Given the description of an element on the screen output the (x, y) to click on. 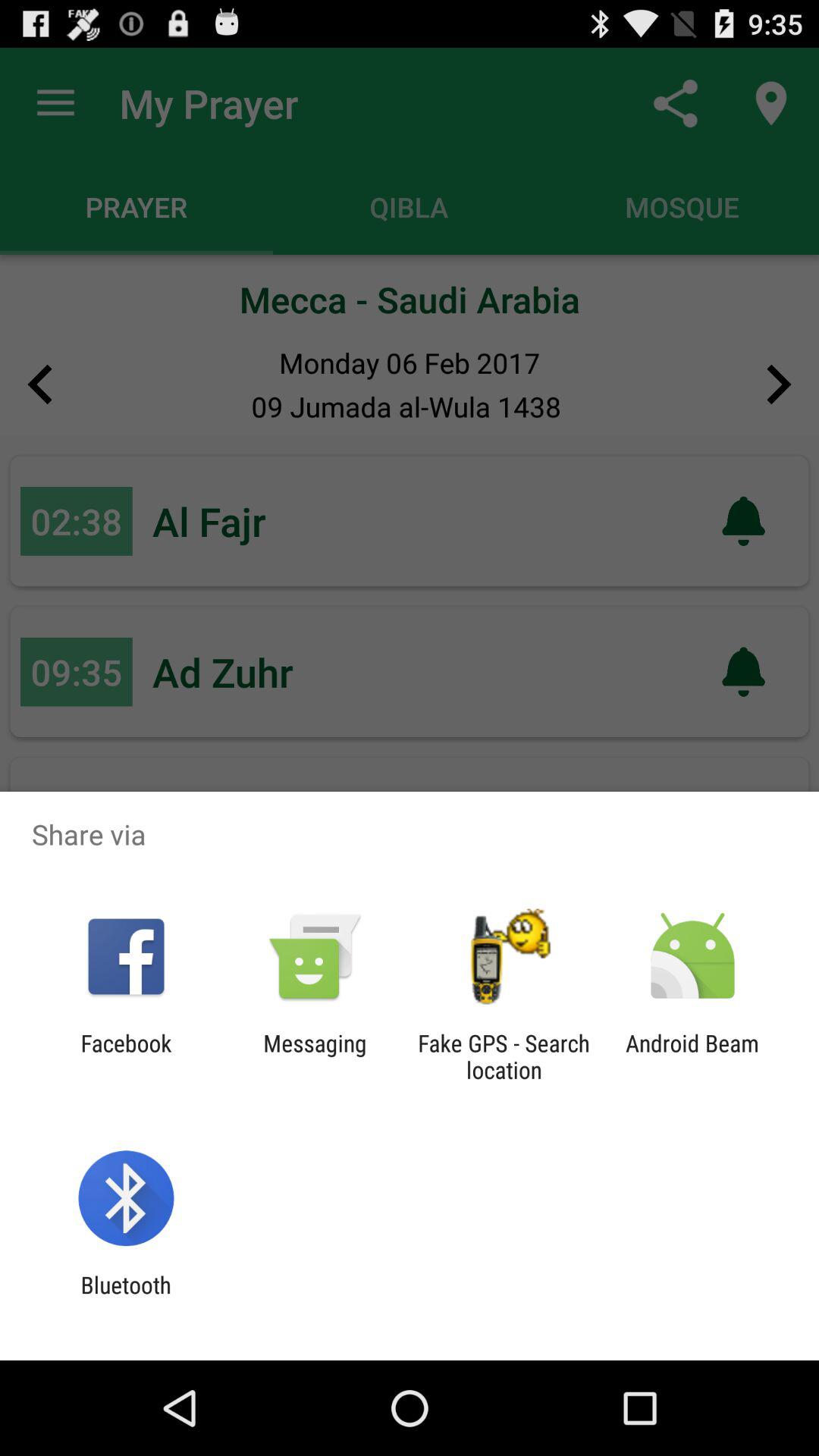
press app to the right of the facebook (314, 1056)
